Given the description of an element on the screen output the (x, y) to click on. 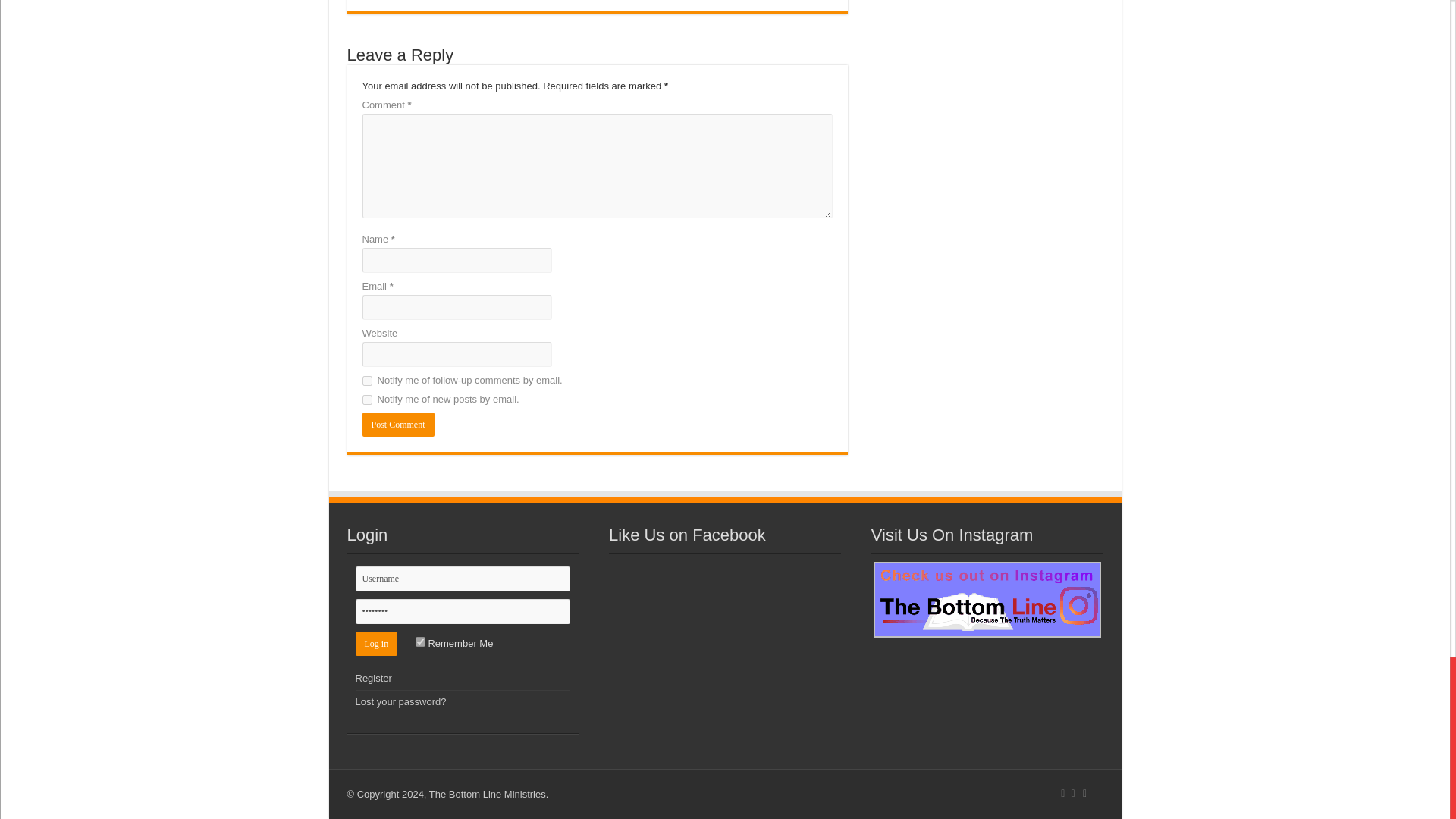
Password (462, 611)
forever (419, 642)
Post Comment (397, 424)
subscribe (367, 380)
Username (462, 578)
subscribe (367, 399)
Log in (376, 643)
